Given the description of an element on the screen output the (x, y) to click on. 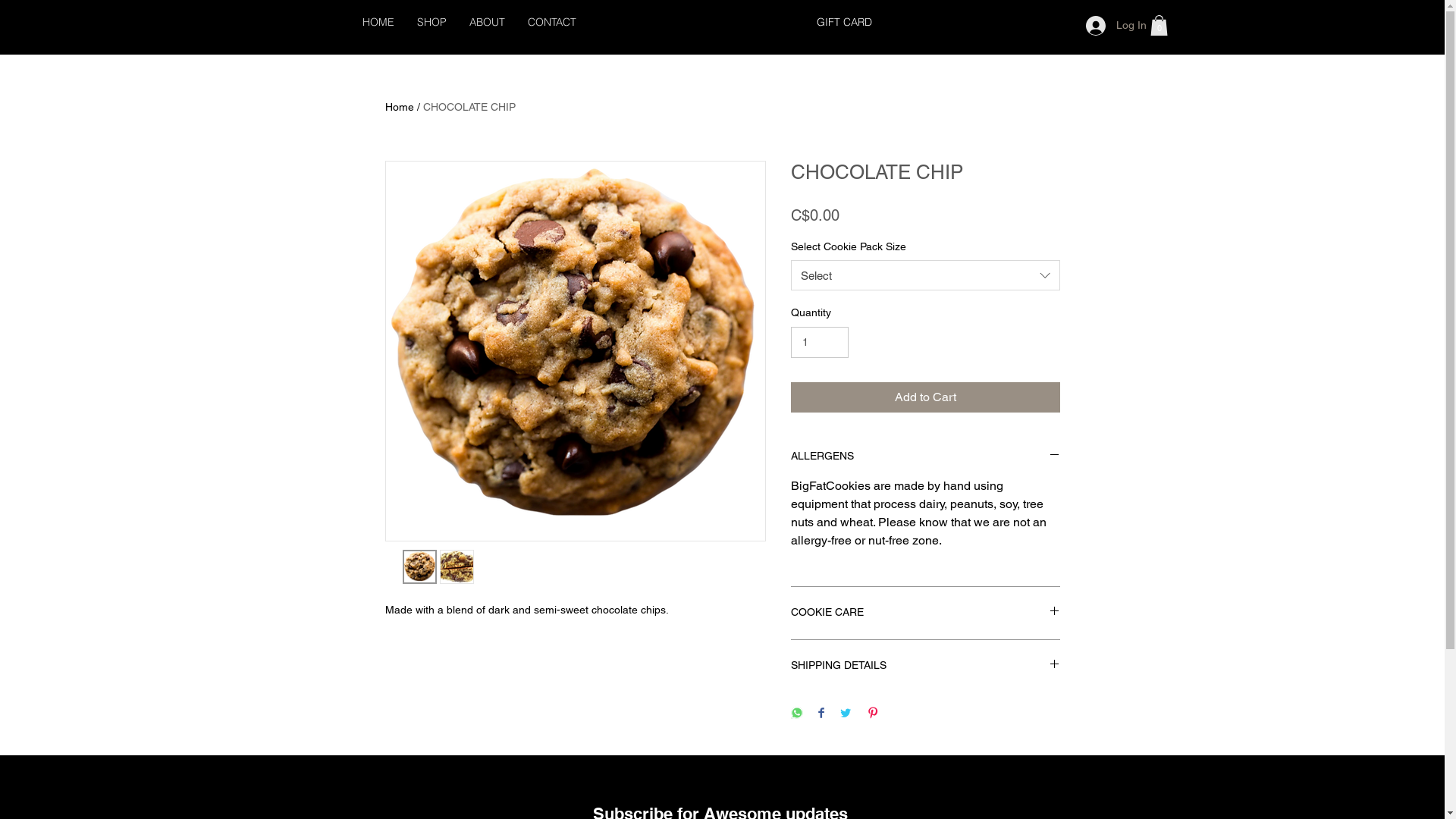
Select Element type: text (924, 275)
0 Element type: text (1158, 25)
Home Element type: text (399, 106)
HOME Element type: text (377, 22)
CHOCOLATE CHIP Element type: text (469, 106)
SHIPPING DETAILS Element type: text (924, 666)
Add to Cart Element type: text (924, 397)
Log In Element type: text (1115, 25)
SHOP Element type: text (430, 22)
ABOUT Element type: text (487, 22)
GIFT CARD Element type: text (843, 21)
CONTACT Element type: text (550, 22)
ALLERGENS Element type: text (924, 456)
COOKIE CARE Element type: text (924, 613)
